Given the description of an element on the screen output the (x, y) to click on. 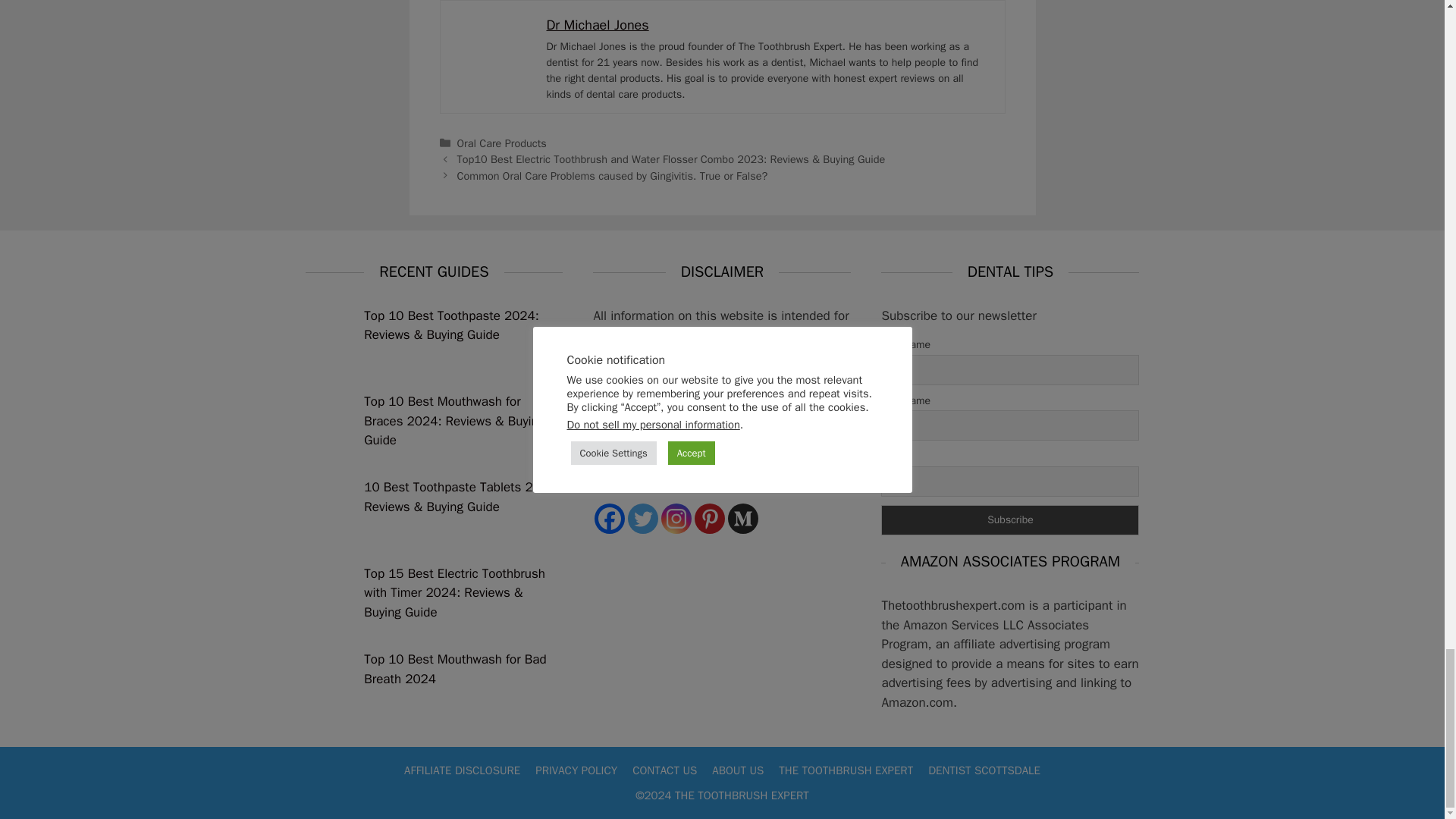
Subscribe (1009, 520)
